Given the description of an element on the screen output the (x, y) to click on. 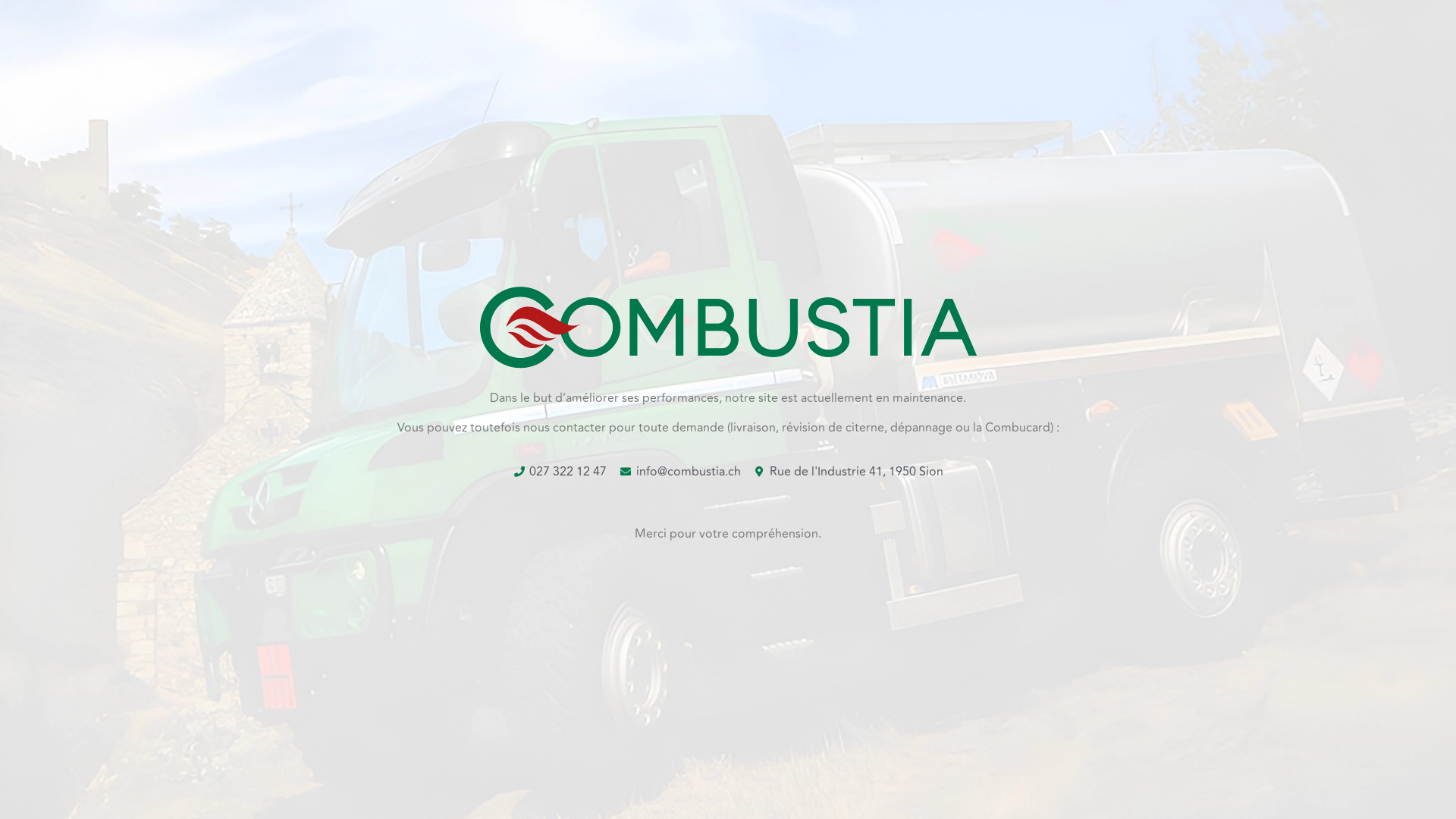
info@combustia.ch Element type: text (679, 471)
027 322 12 47 Element type: text (559, 471)
